Given the description of an element on the screen output the (x, y) to click on. 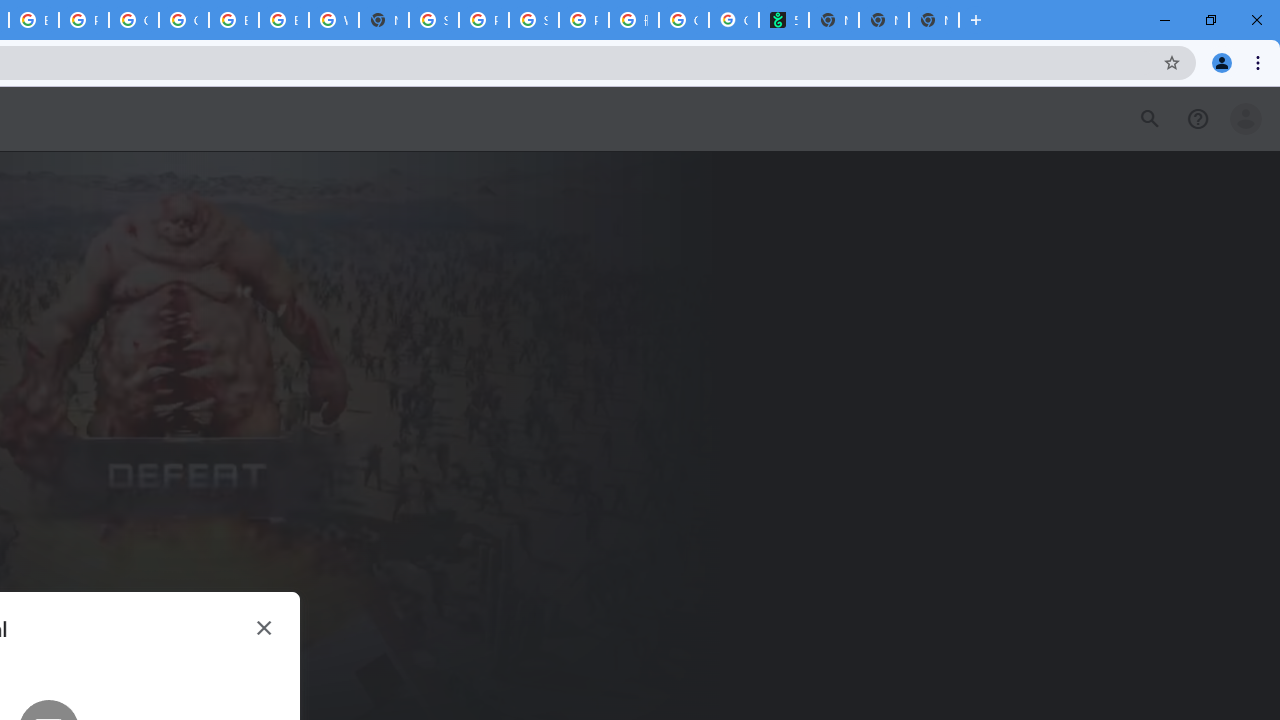
Google Cloud Platform (133, 20)
New Tab (883, 20)
New Tab (383, 20)
